Given the description of an element on the screen output the (x, y) to click on. 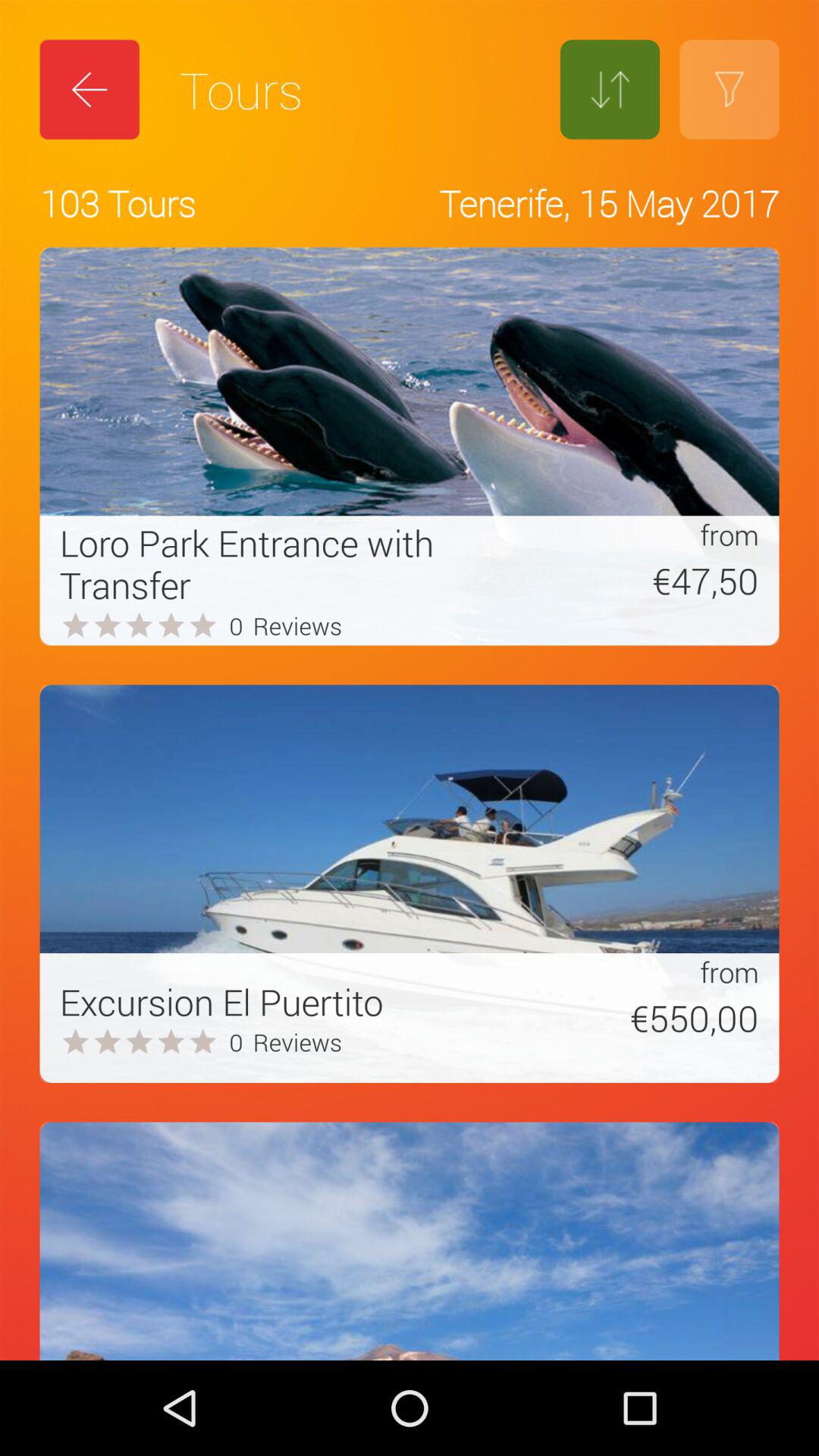
choose icon to the left of tours icon (89, 89)
